Given the description of an element on the screen output the (x, y) to click on. 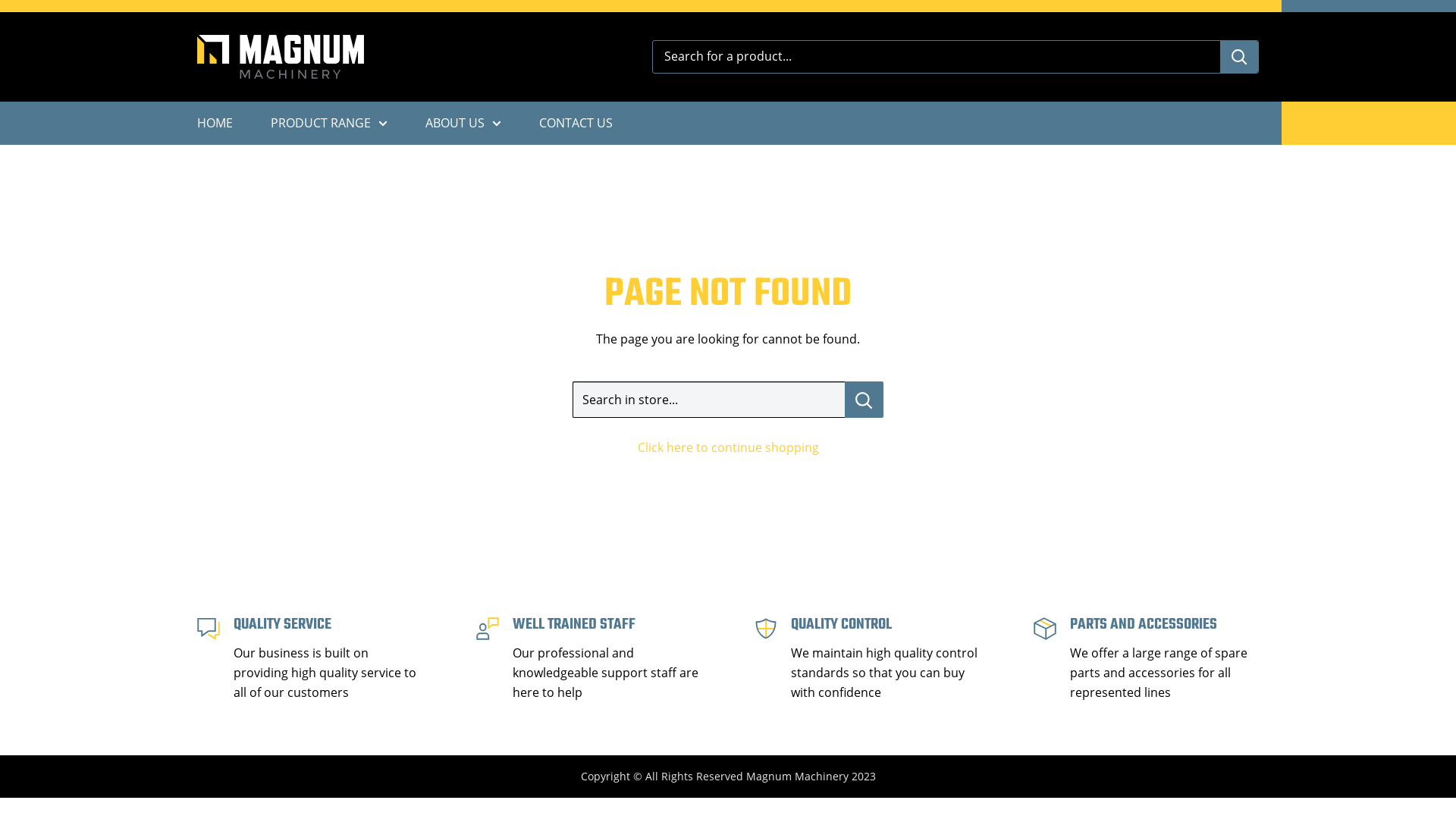
CONTACT US Element type: text (575, 123)
ABOUT US Element type: text (463, 123)
Magnum Machinery Element type: text (280, 56)
HOME Element type: text (214, 123)
Click here to continue shopping Element type: text (727, 447)
PRODUCT RANGE Element type: text (328, 123)
